Given the description of an element on the screen output the (x, y) to click on. 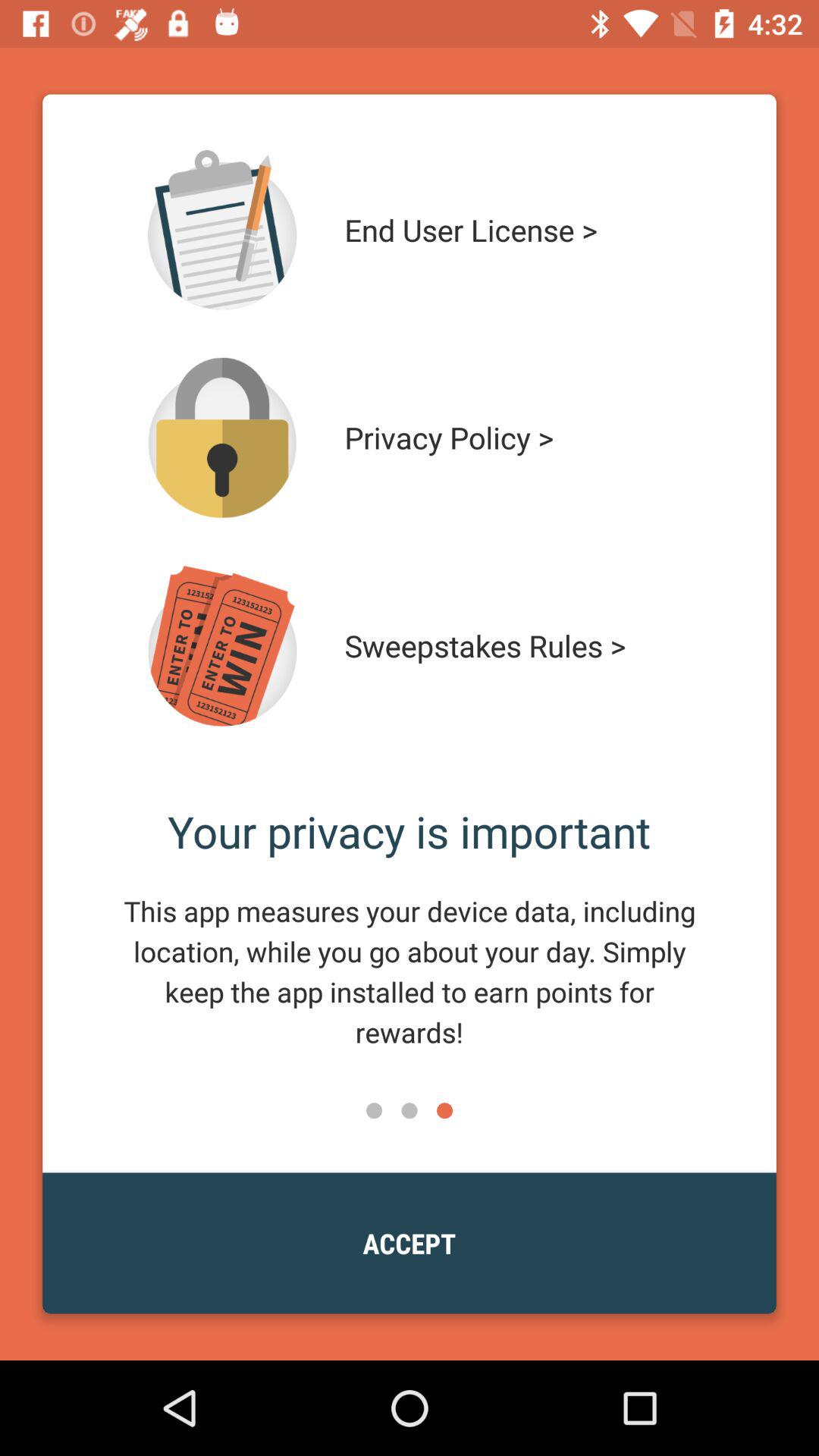
tap privacy policy > item (514, 437)
